Given the description of an element on the screen output the (x, y) to click on. 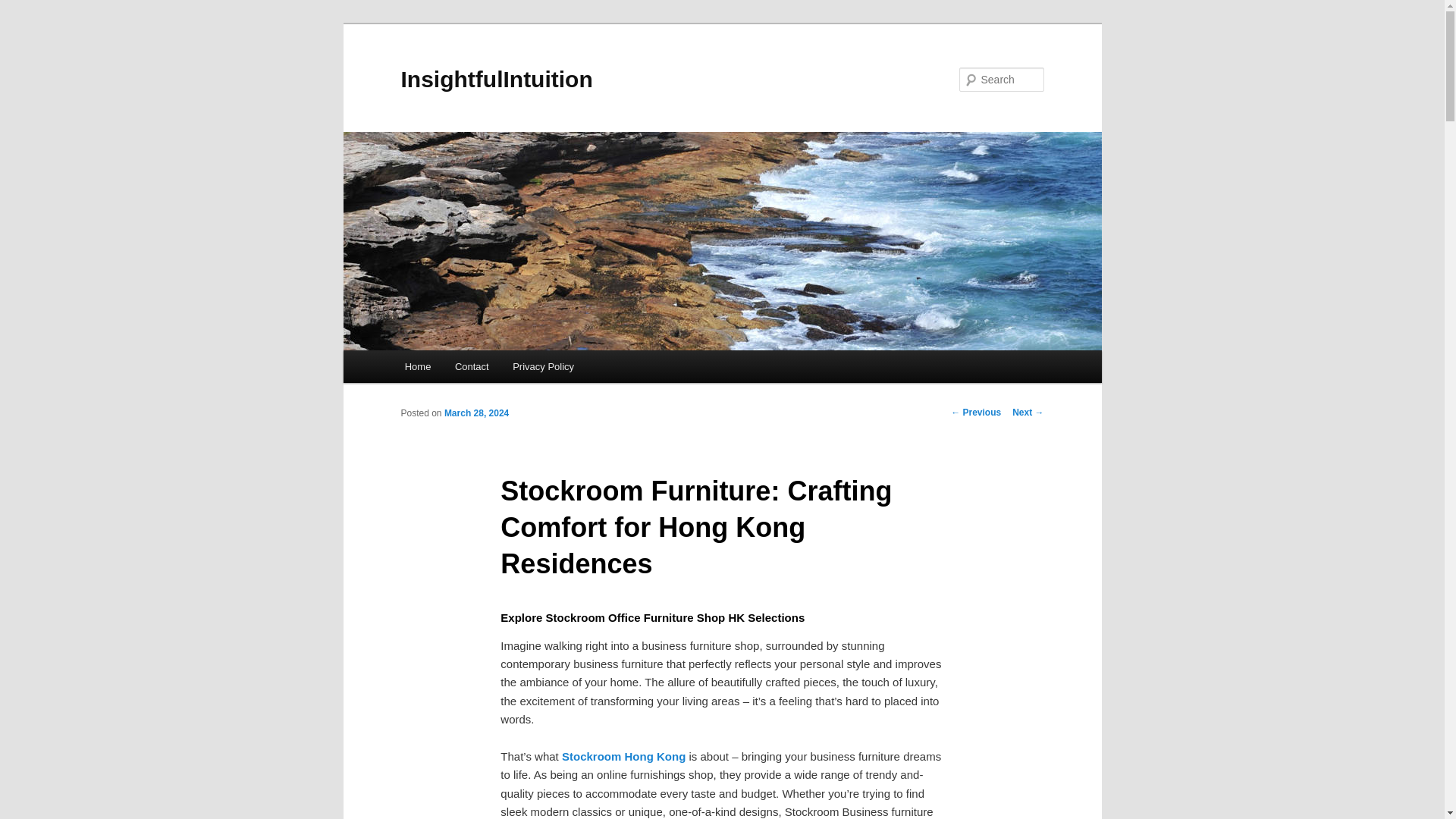
InsightfulIntuition (496, 78)
Privacy Policy (542, 366)
Stockroom Hong Kong (623, 756)
March 28, 2024 (476, 412)
Contact (471, 366)
7:25 pm (476, 412)
Home (417, 366)
Search (24, 8)
